Given the description of an element on the screen output the (x, y) to click on. 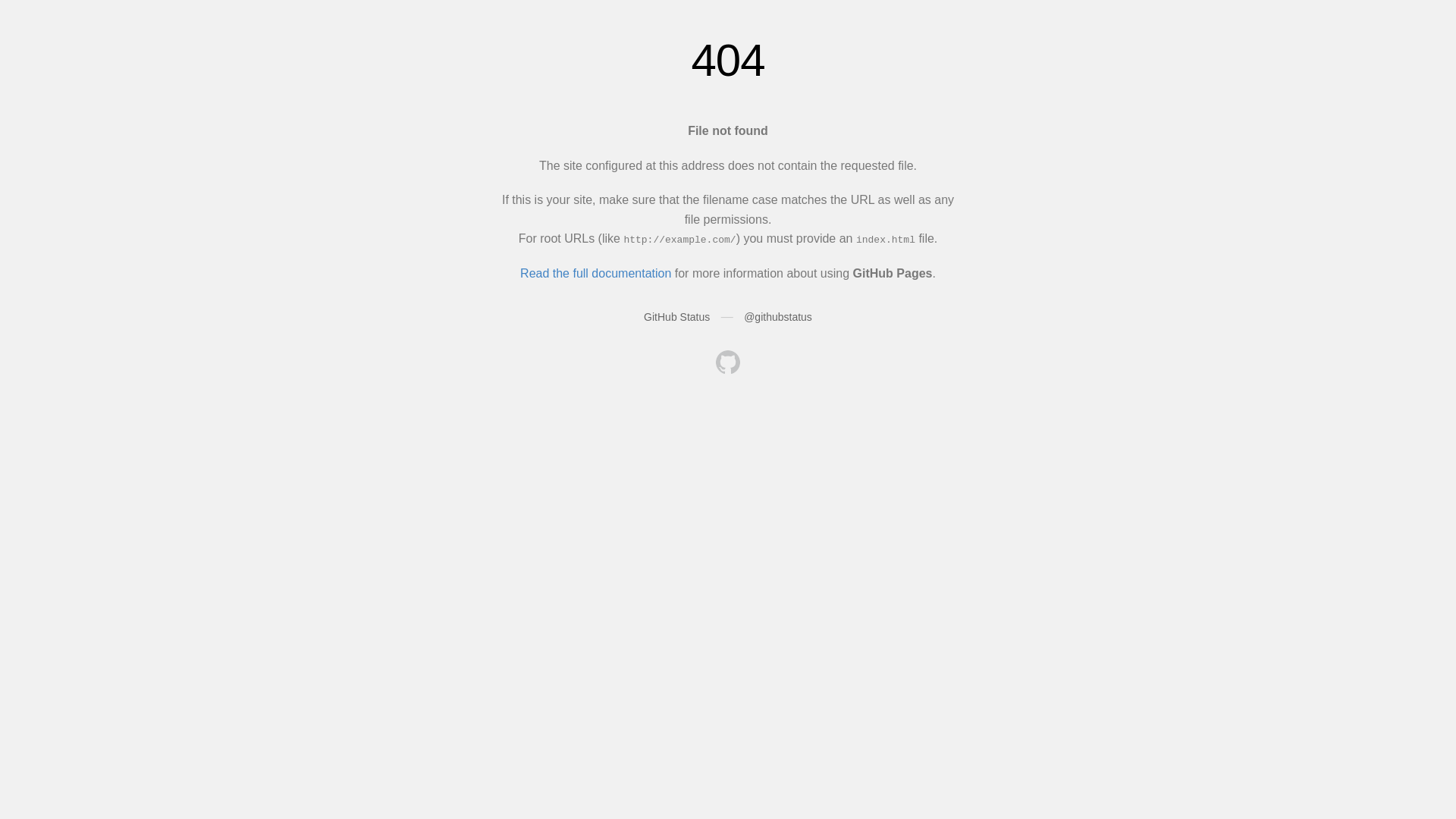
GitHub Status Element type: text (676, 316)
@githubstatus Element type: text (777, 316)
Read the full documentation Element type: text (595, 272)
